Given the description of an element on the screen output the (x, y) to click on. 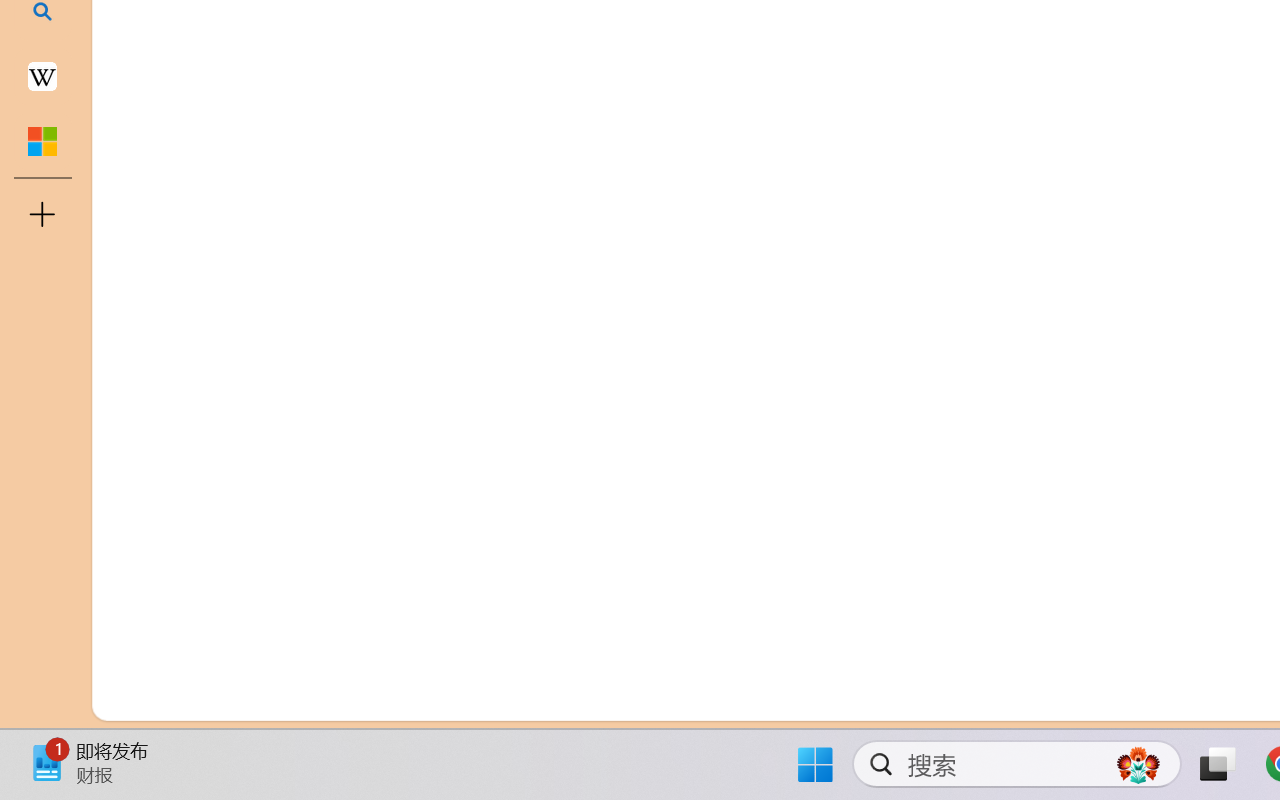
Earth - Wikipedia (42, 75)
